Given the description of an element on the screen output the (x, y) to click on. 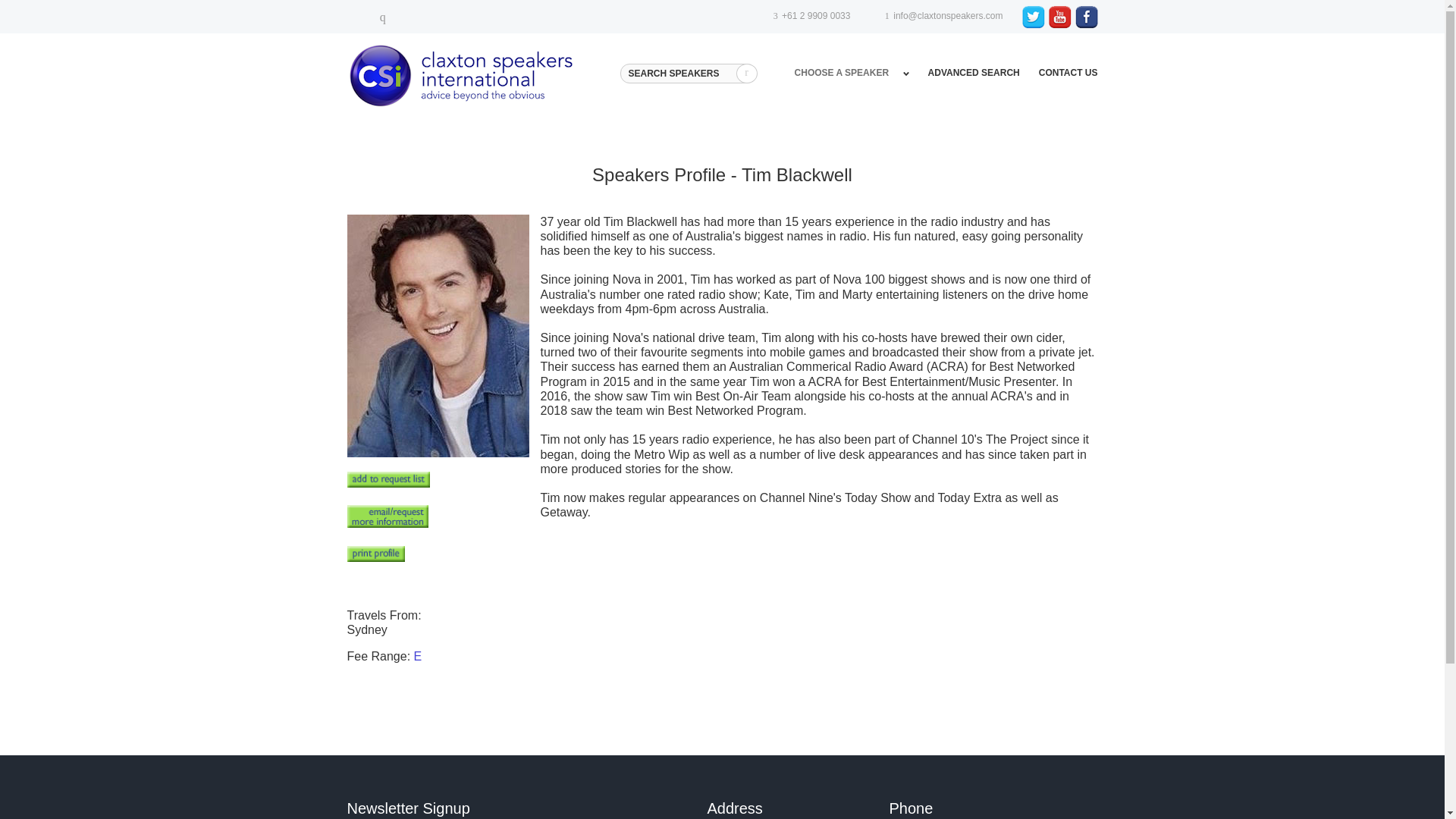
SEARCH SPEAKERS (687, 73)
CONTACT US (1068, 72)
SEARCH SPEAKERS (687, 73)
ADVANCED SEARCH (974, 72)
